Given the description of an element on the screen output the (x, y) to click on. 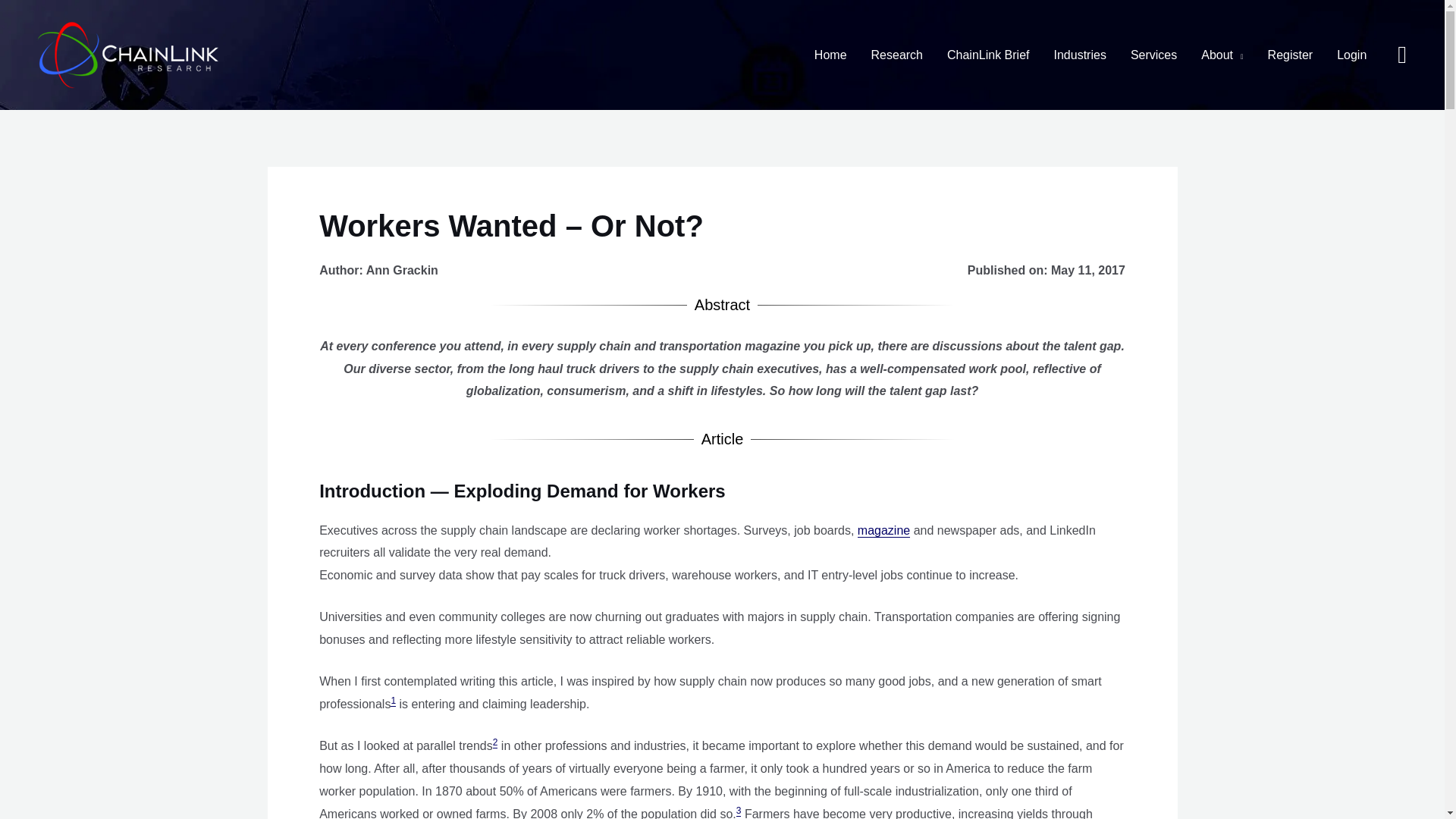
magazine (883, 530)
1 (393, 700)
Register (1289, 54)
Research (896, 54)
3 (738, 810)
Industries (1080, 54)
ChainLink Brief (988, 54)
2 (495, 742)
Home (830, 54)
Services (1153, 54)
Search (1401, 54)
About (1222, 54)
Login (1351, 54)
